Given the description of an element on the screen output the (x, y) to click on. 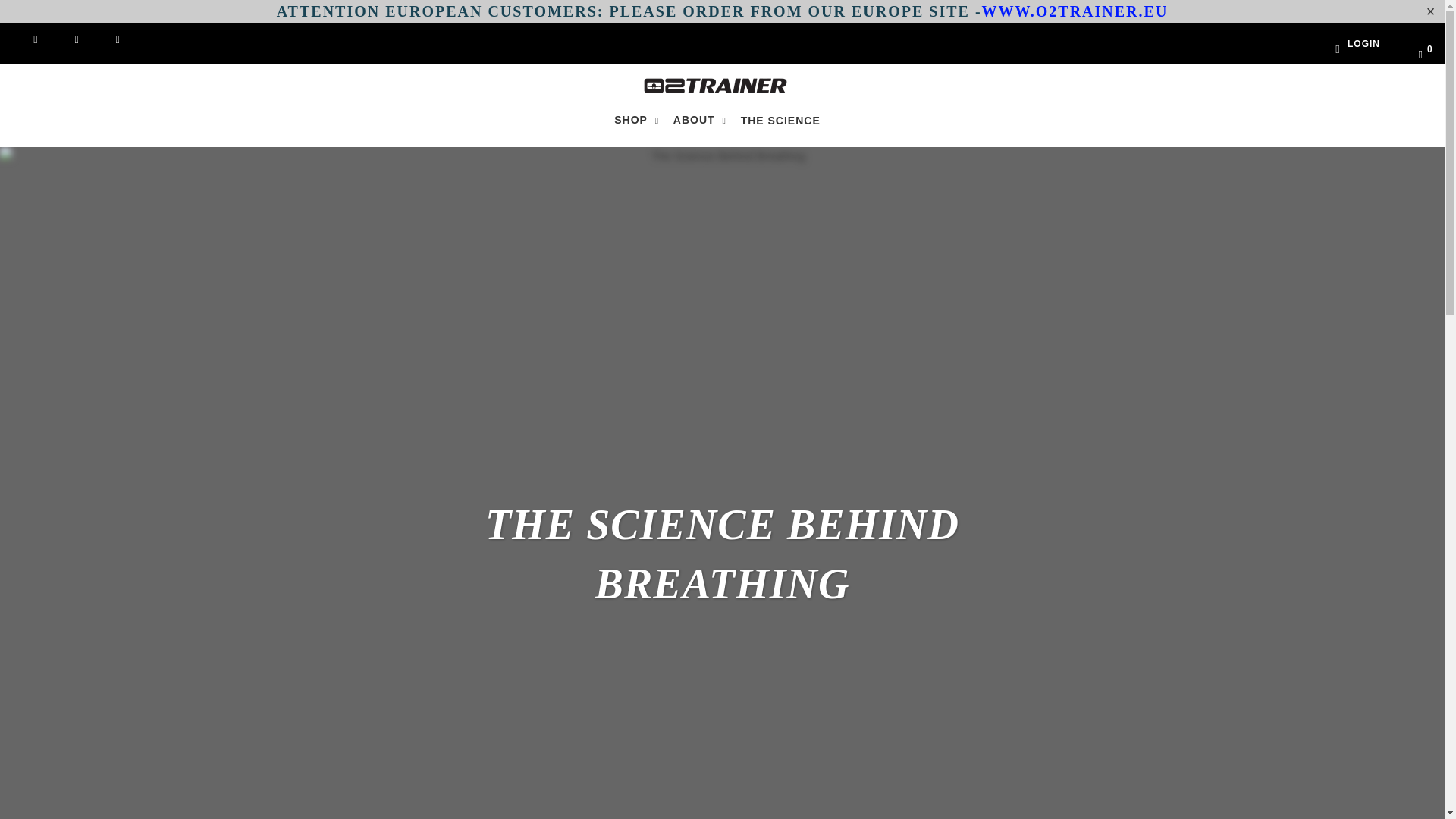
O2Trainer - O2Trainer.com on YouTube (67, 40)
O2Trainer - O2Trainer.com (714, 86)
LOGIN (1346, 42)
WWW.O2TRAINER.EU (1075, 11)
O2Trainer - O2Trainer.com on Facebook (26, 40)
My Account  (1346, 42)
O2Trainer - O2Trainer.com on Instagram (108, 40)
